Given the description of an element on the screen output the (x, y) to click on. 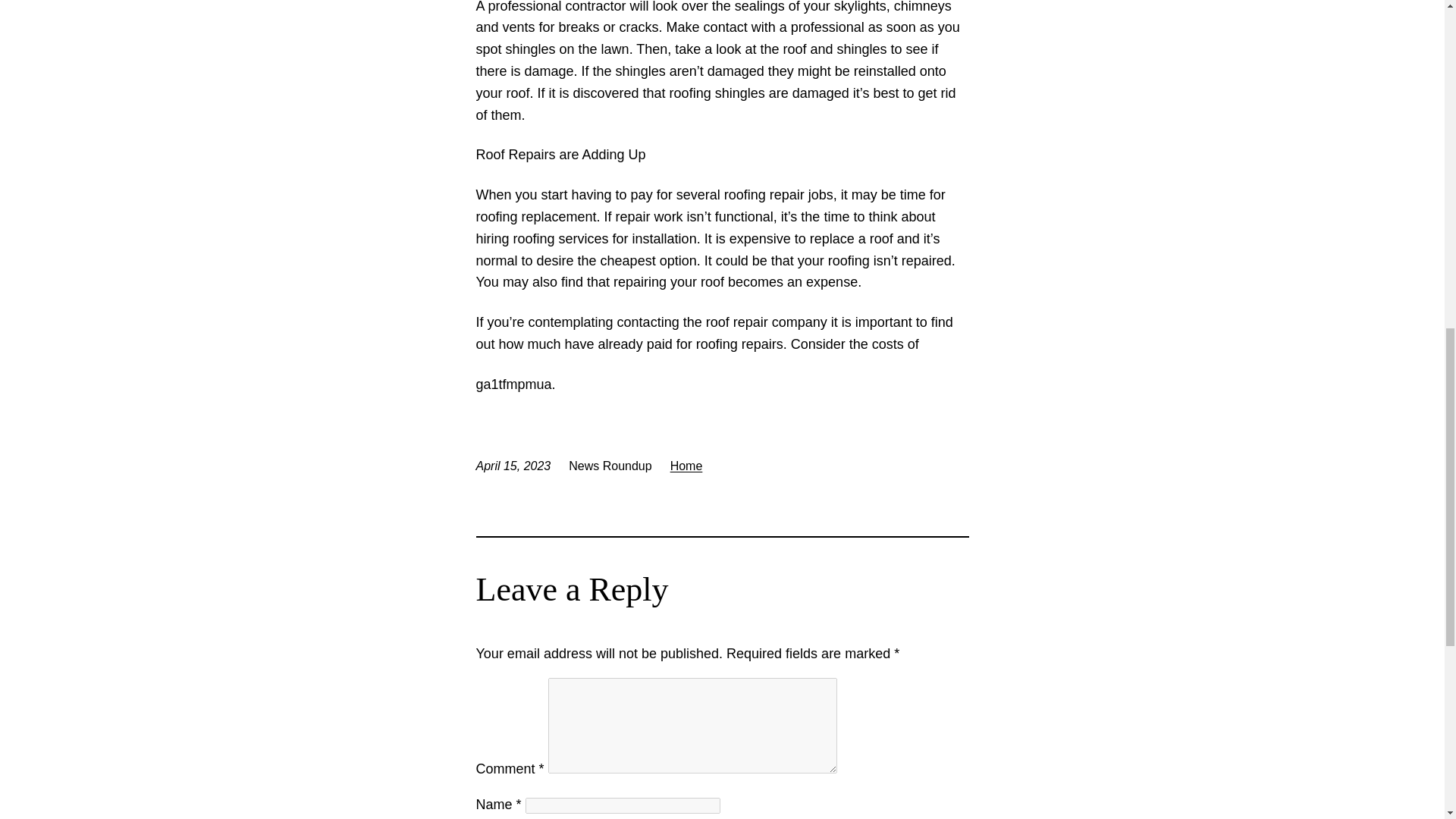
Home (686, 465)
